Given the description of an element on the screen output the (x, y) to click on. 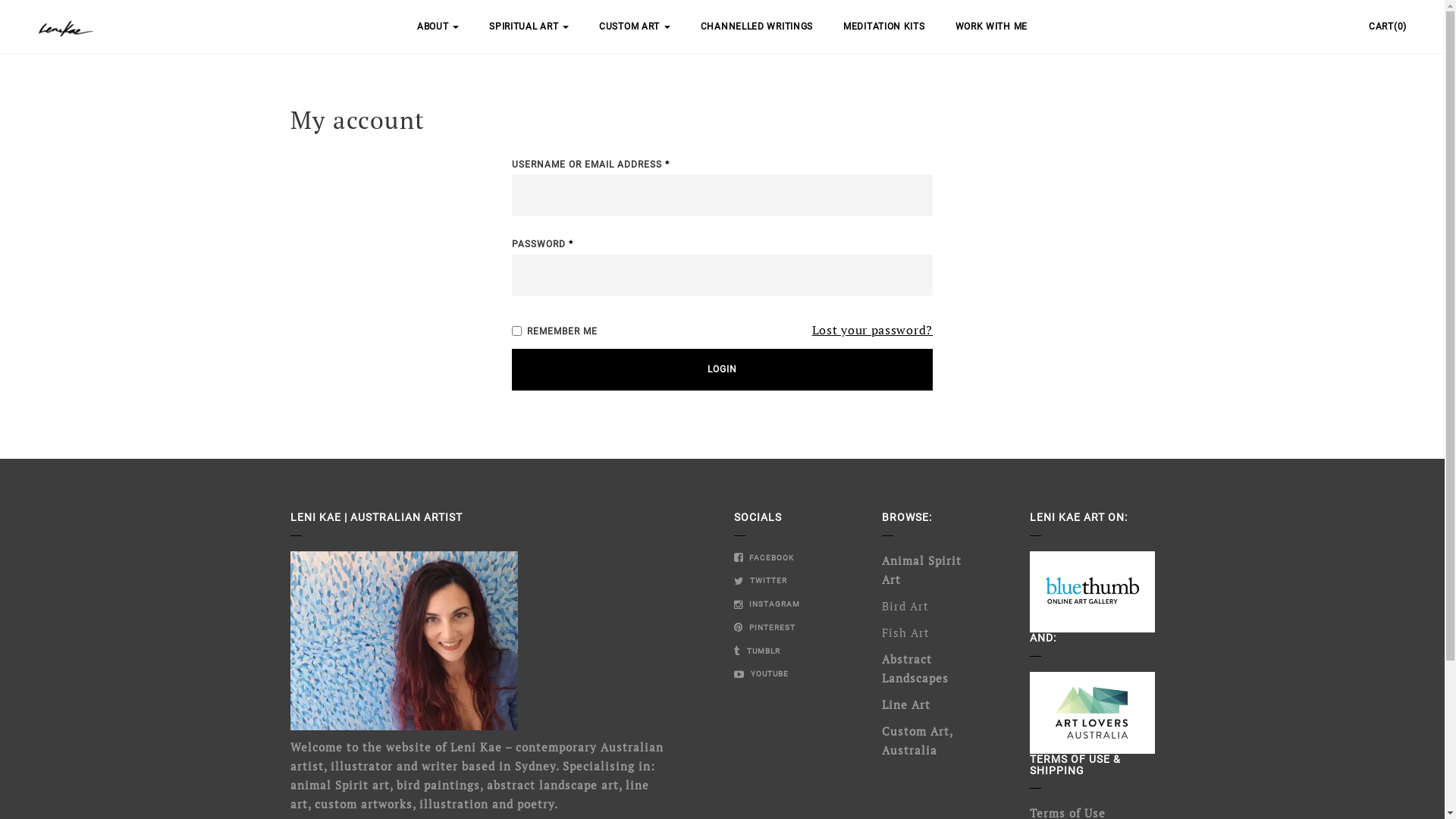
PINTEREST Element type: text (764, 627)
TUMBLR Element type: text (757, 650)
Abstract Landscapes Element type: text (914, 668)
Line Art Element type: text (905, 704)
Fish Art Element type: text (904, 632)
Custom Art, Australia Element type: text (916, 740)
Bird Art Element type: text (904, 605)
INSTAGRAM Element type: text (767, 603)
Lost your password? Element type: text (872, 329)
CUSTOM ART Element type: text (634, 26)
YOUTUBE Element type: text (761, 673)
WORK WITH ME Element type: text (991, 26)
ABOUT Element type: text (437, 26)
Animal Spirit Art Element type: text (920, 569)
SPIRITUAL ART Element type: text (528, 26)
CHANNELLED WRITINGS Element type: text (756, 26)
CART(0) Element type: text (1387, 26)
TWITTER Element type: text (760, 580)
MEDITATION KITS Element type: text (884, 26)
Login Element type: text (721, 369)
FACEBOOK Element type: text (763, 557)
